Given the description of an element on the screen output the (x, y) to click on. 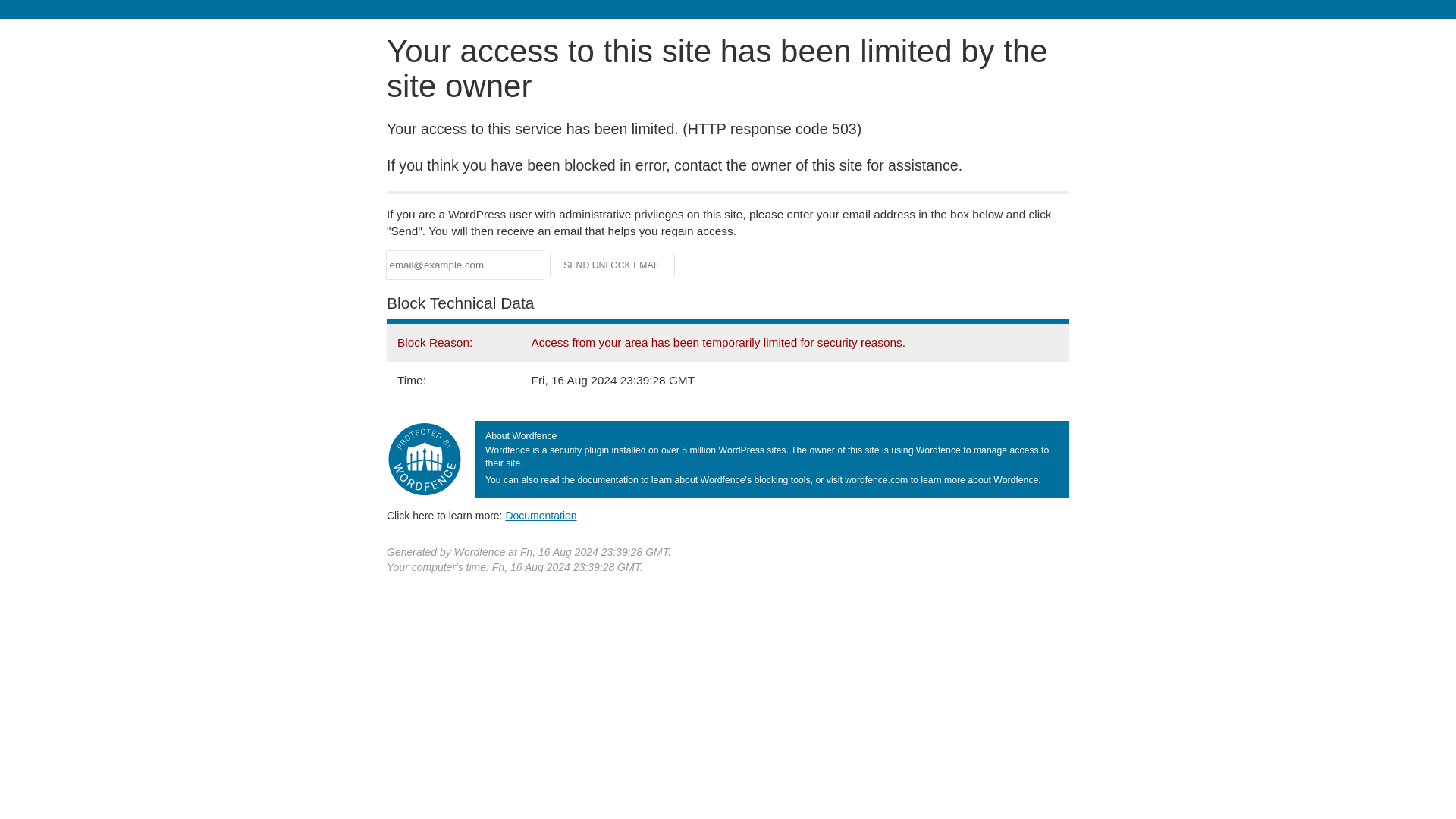
Send Unlock Email (612, 265)
Send Unlock Email (612, 265)
Documentation (540, 515)
